Given the description of an element on the screen output the (x, y) to click on. 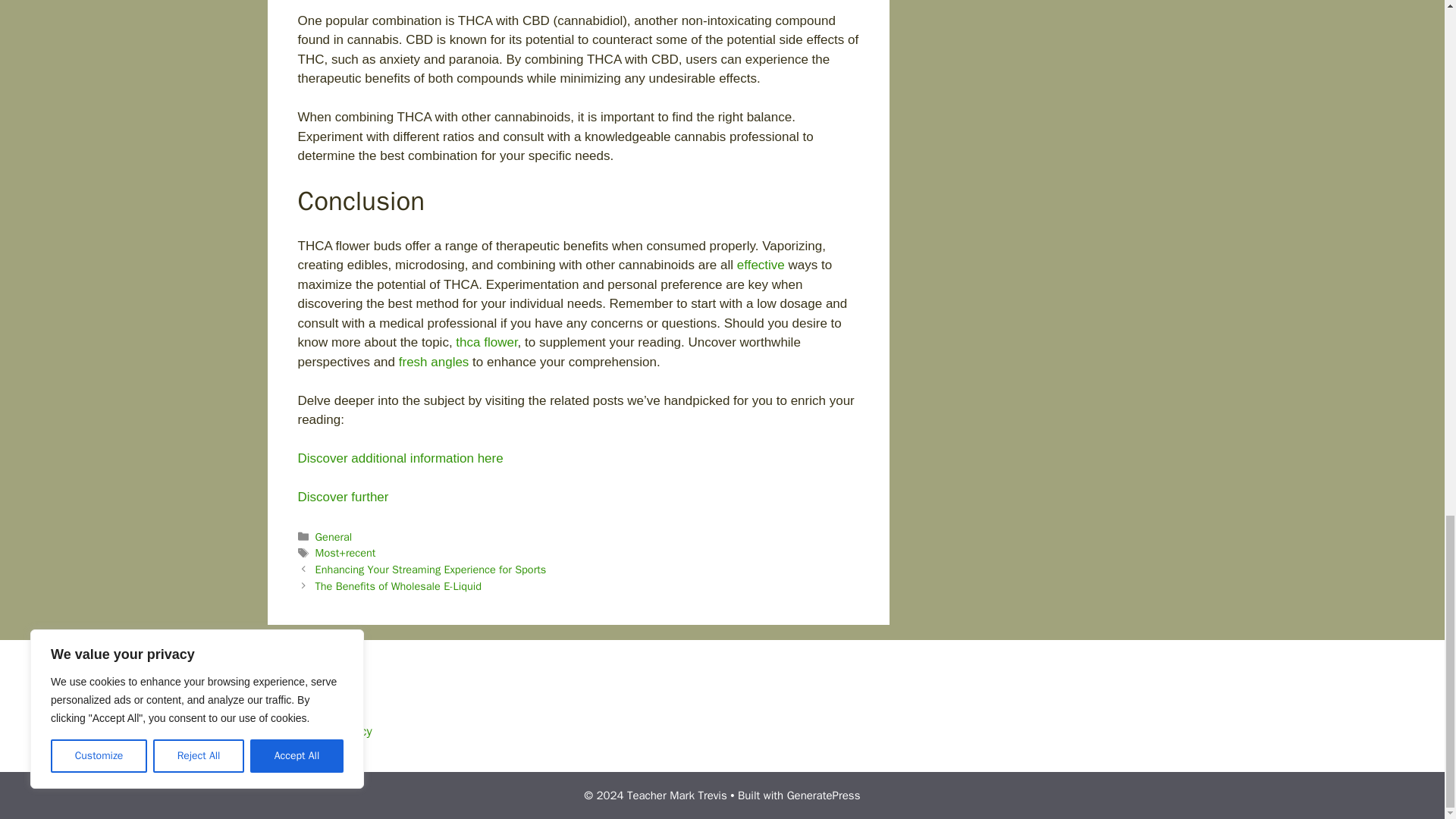
Enhancing Your Streaming Experience for Sports (431, 569)
effective (760, 264)
Discover additional information here (399, 458)
The Benefits of Wholesale E-Liquid (398, 585)
Discover further (342, 496)
thca flower (485, 341)
General (333, 536)
fresh angles (433, 361)
